Given the description of an element on the screen output the (x, y) to click on. 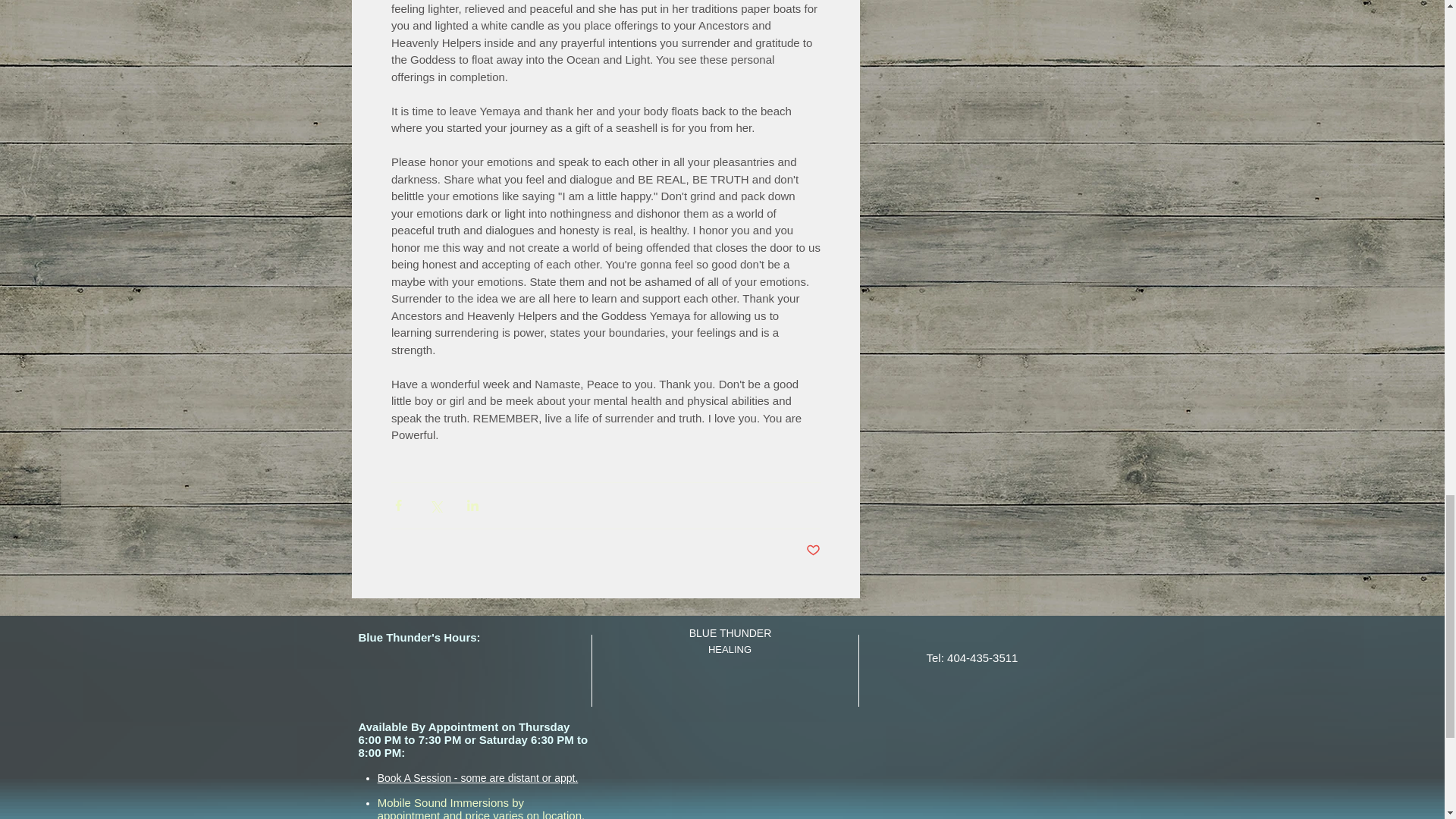
Post not marked as liked (812, 550)
